Given the description of an element on the screen output the (x, y) to click on. 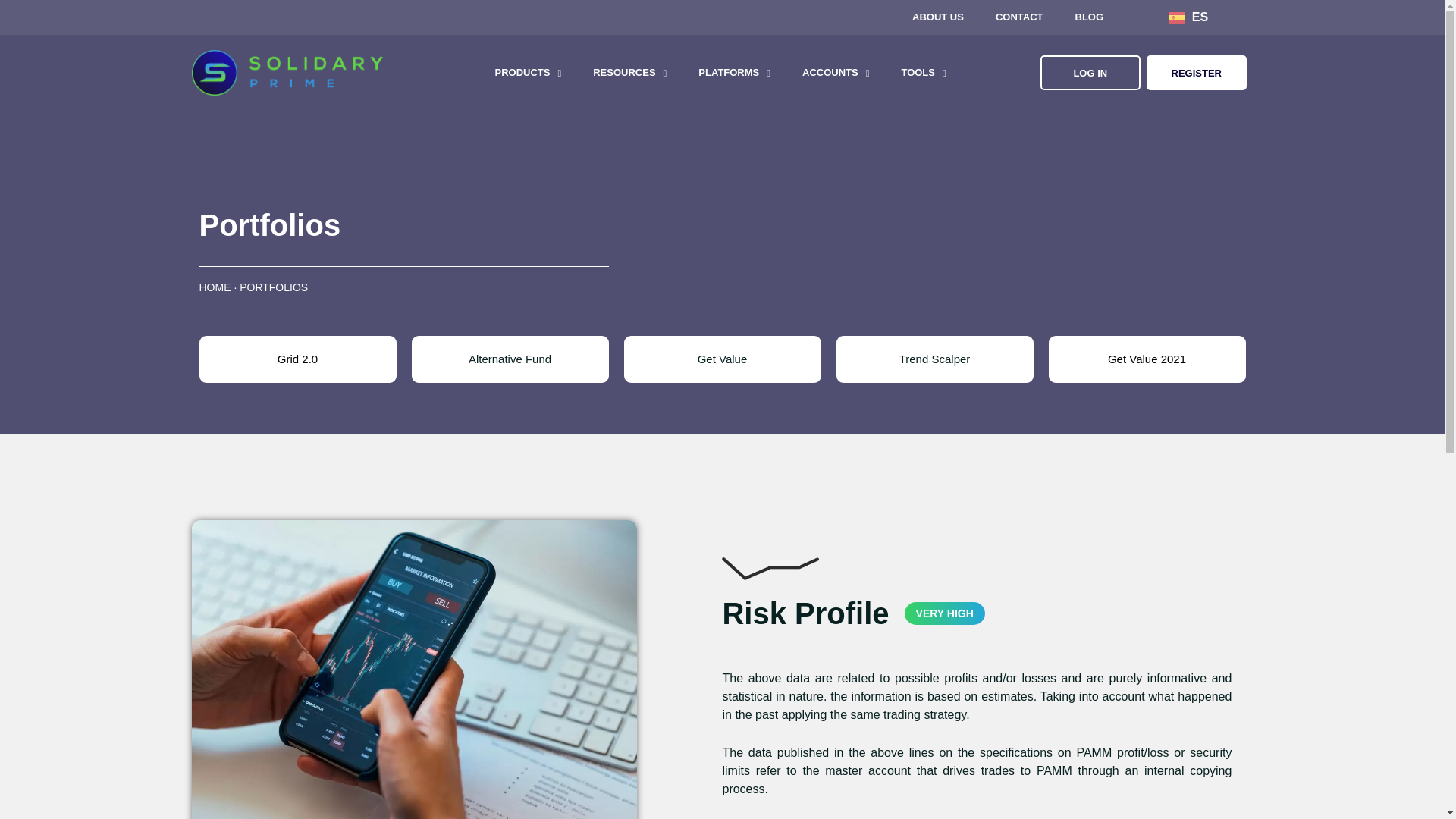
ACCOUNTS (835, 72)
RESOURCES (629, 72)
ABOUT US (937, 17)
PRODUCTS (528, 72)
TOOLS (922, 72)
CONTACT (1019, 17)
BLOG (1088, 17)
PLATFORMS (734, 72)
ES (1188, 17)
